Given the description of an element on the screen output the (x, y) to click on. 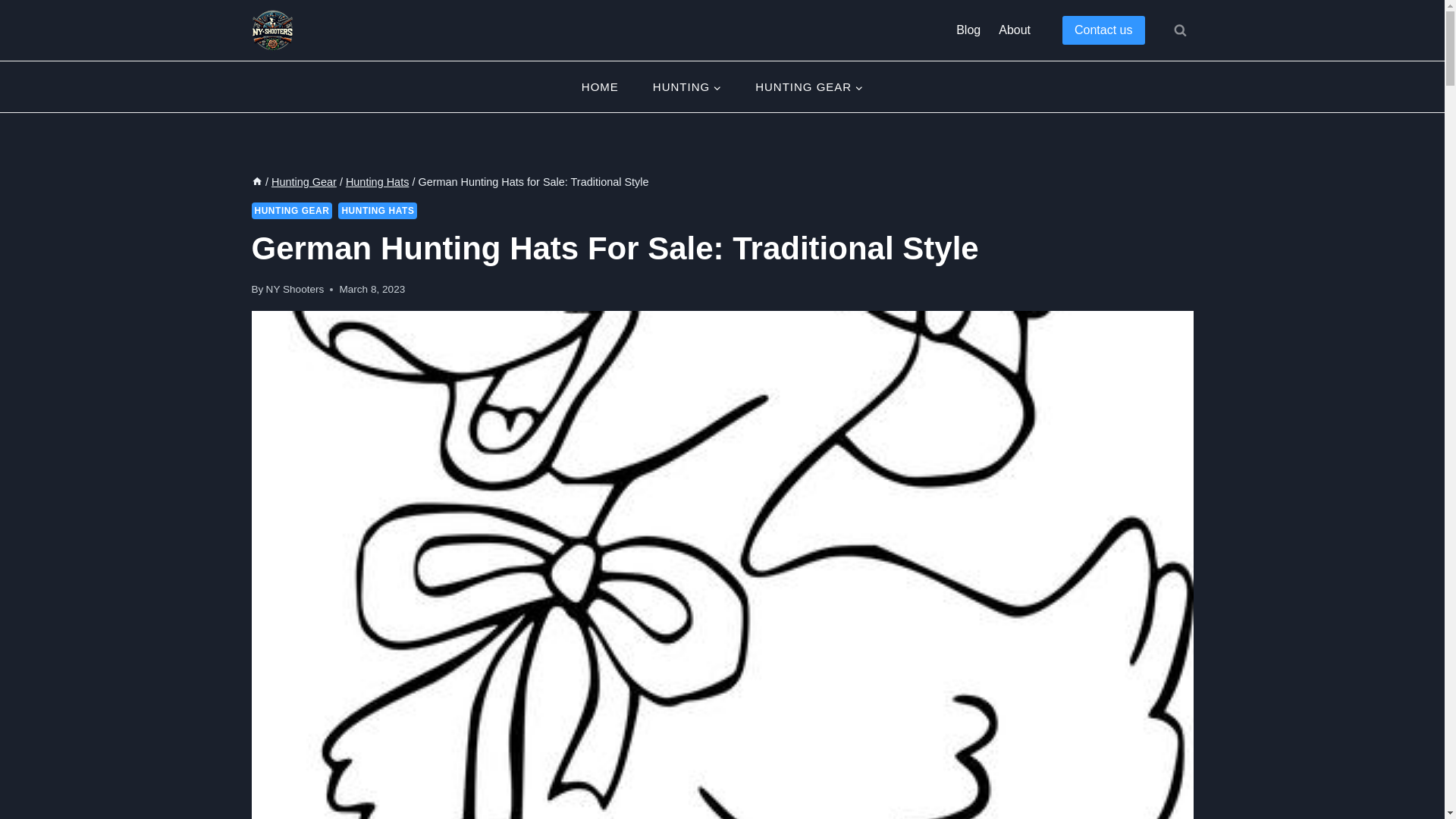
Contact us (1103, 30)
HUNTING HATS (376, 210)
HOME (599, 86)
Hunting Gear (303, 182)
HUNTING GEAR (809, 86)
Hunting Hats (377, 182)
NY Shooters (295, 288)
About (1014, 30)
Blog (968, 30)
HUNTING (686, 86)
HUNTING GEAR (292, 210)
